Given the description of an element on the screen output the (x, y) to click on. 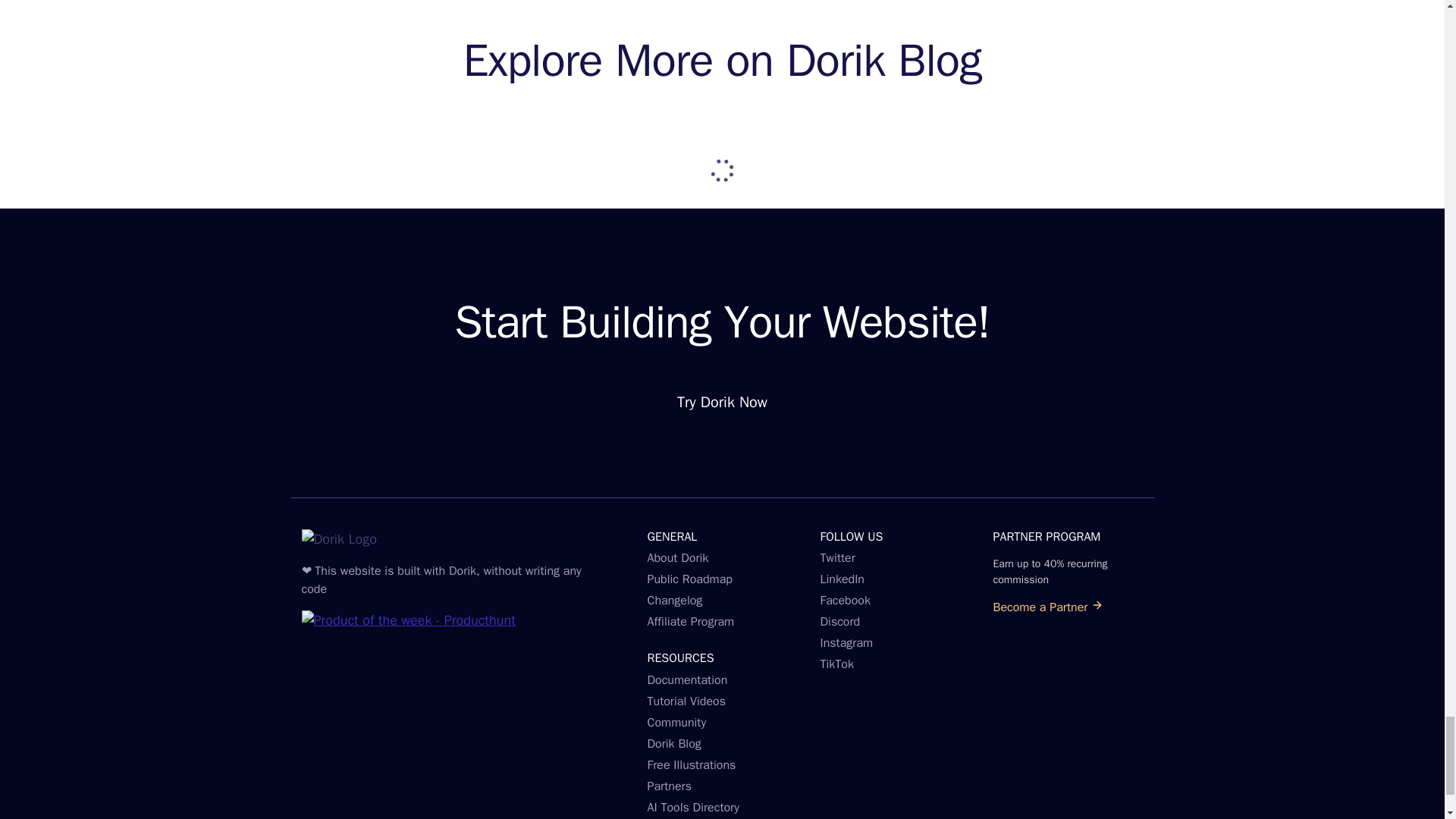
Uptime Monitor (400, 691)
